Given the description of an element on the screen output the (x, y) to click on. 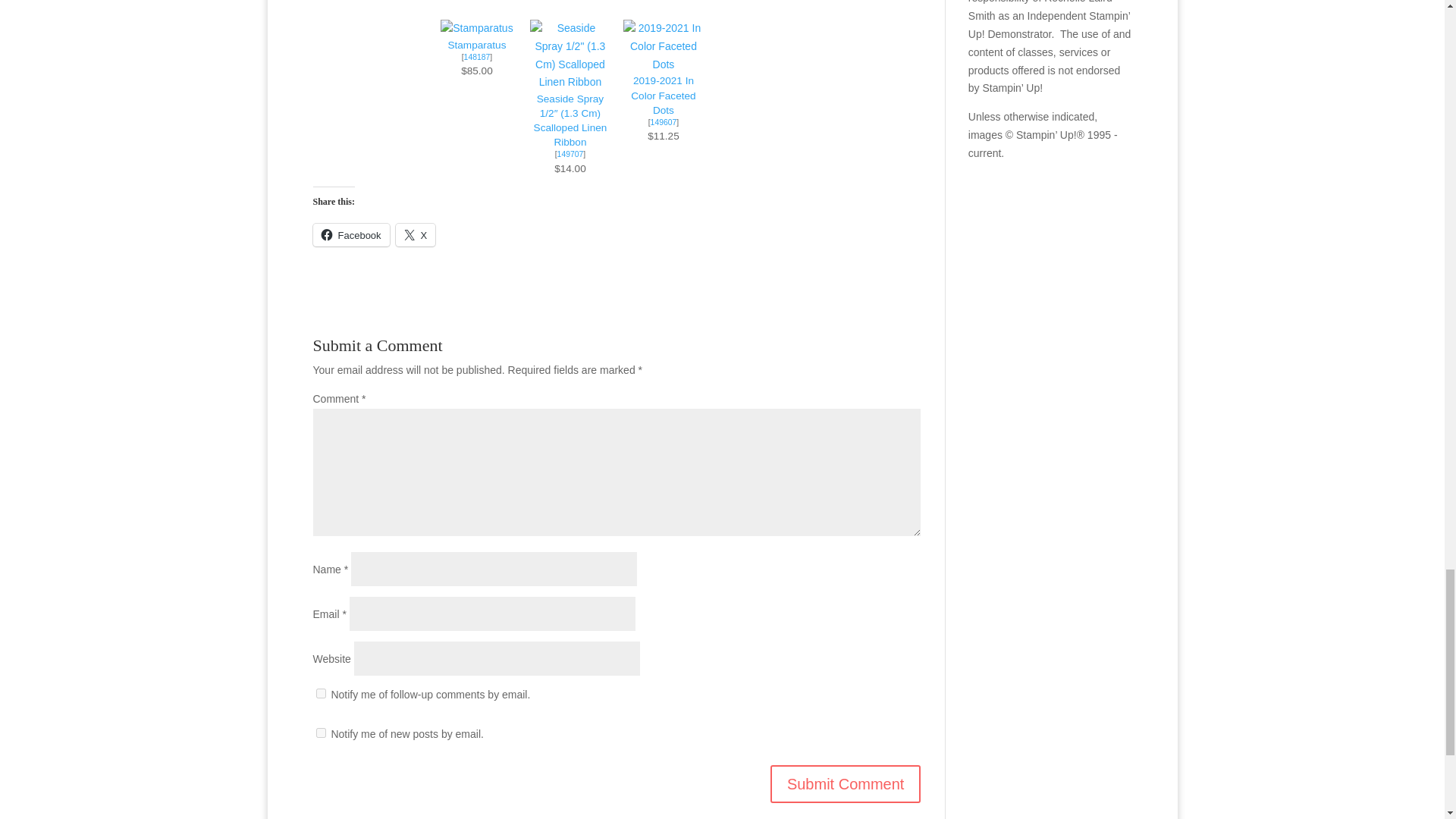
subscribe (319, 732)
subscribe (319, 693)
Submit Comment (845, 783)
